Given the description of an element on the screen output the (x, y) to click on. 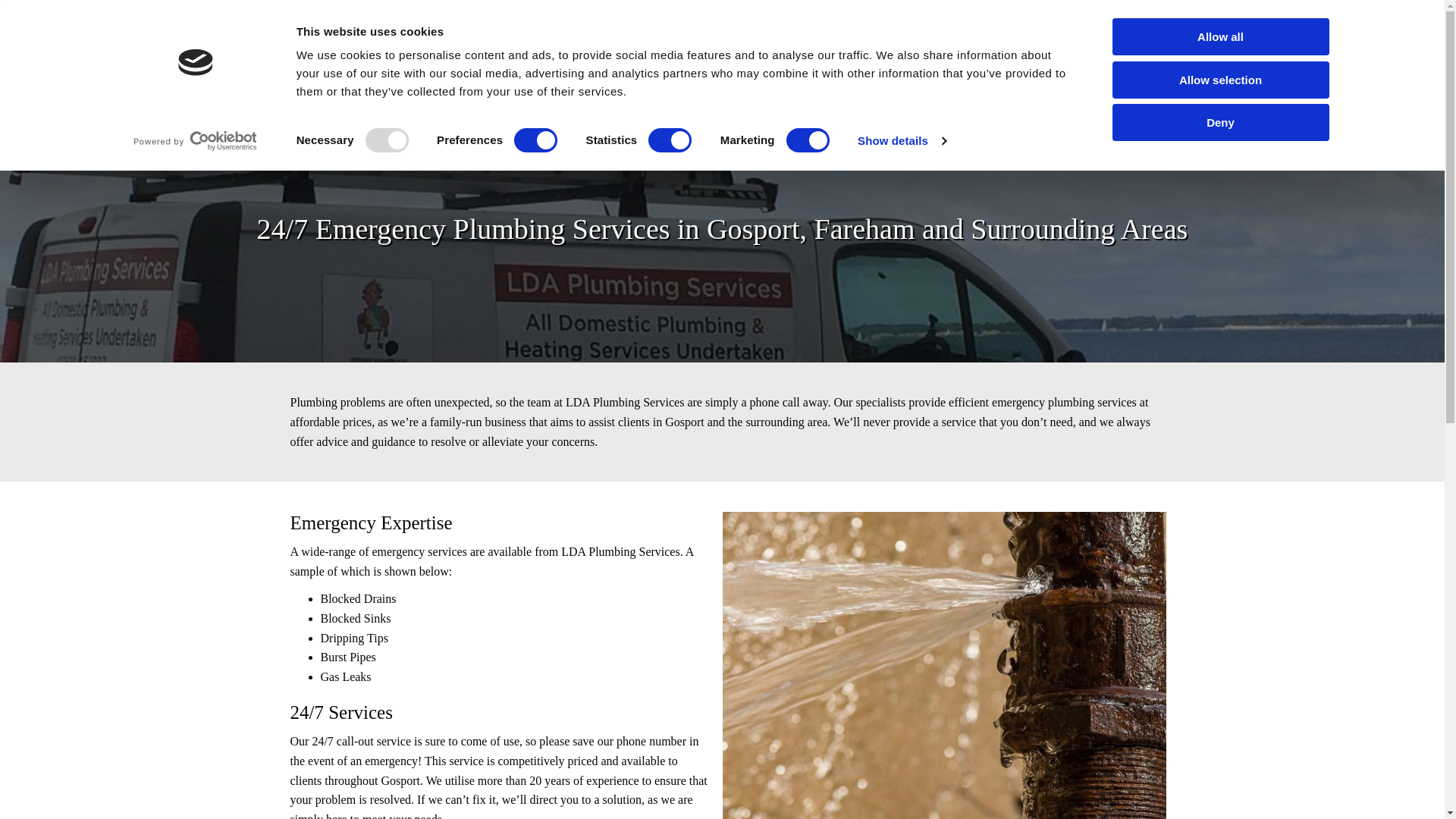
Show details (900, 140)
Allow selection (1219, 78)
EMERGENCY CALL-OUTS (660, 78)
GENERAL PLUMBING - BATHROOMS (453, 78)
Deny (1219, 122)
HOME (136, 78)
DOMESTIC APPLIANCES (831, 78)
LDA Plumbing Services (385, 30)
Allow all (1219, 36)
